Given the description of an element on the screen output the (x, y) to click on. 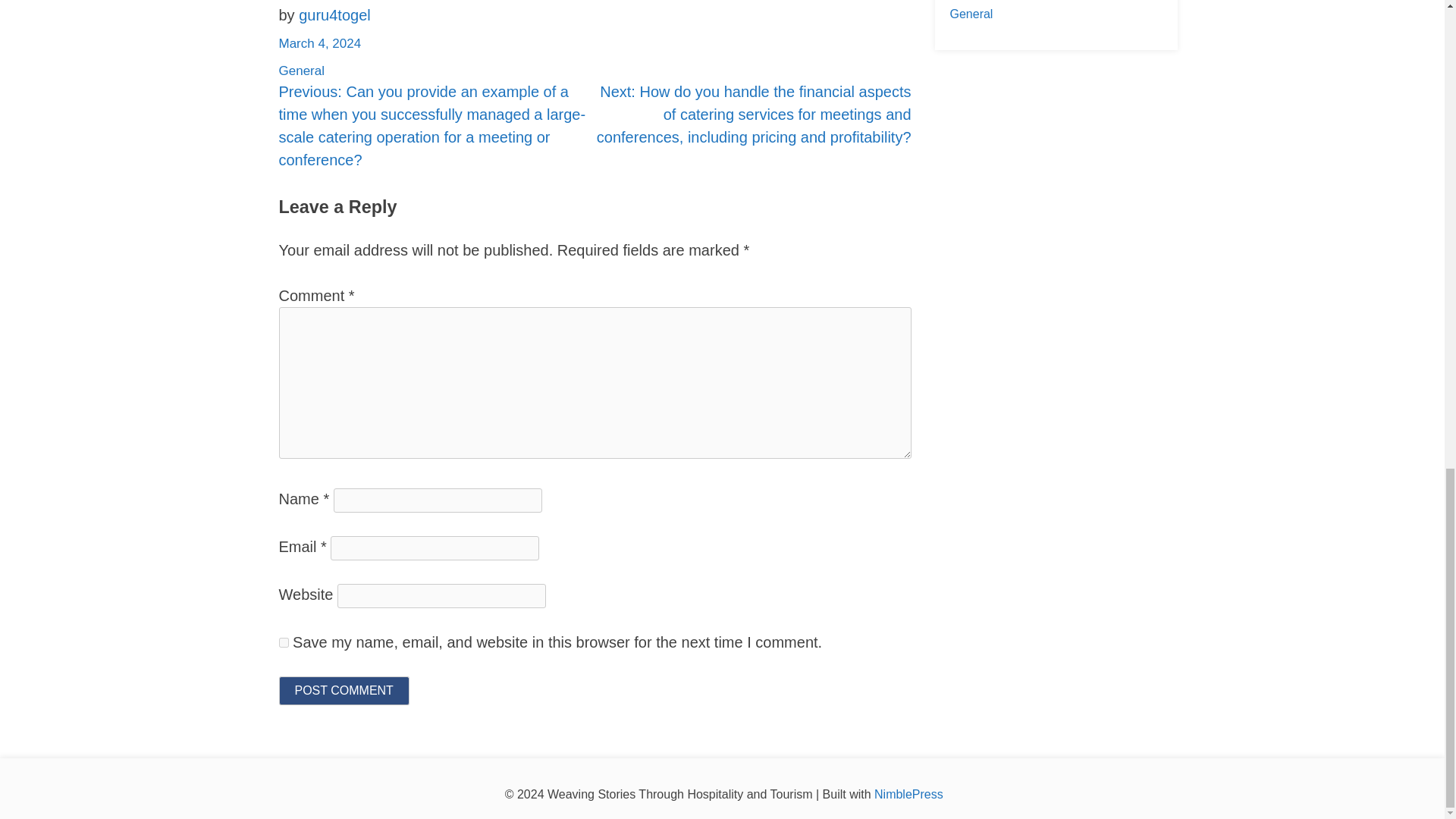
yes (283, 642)
NimblePress (909, 794)
General (301, 70)
Post Comment (344, 690)
Post Comment (344, 690)
March 4, 2024 (320, 43)
General (970, 13)
guru4togel (334, 14)
